Given the description of an element on the screen output the (x, y) to click on. 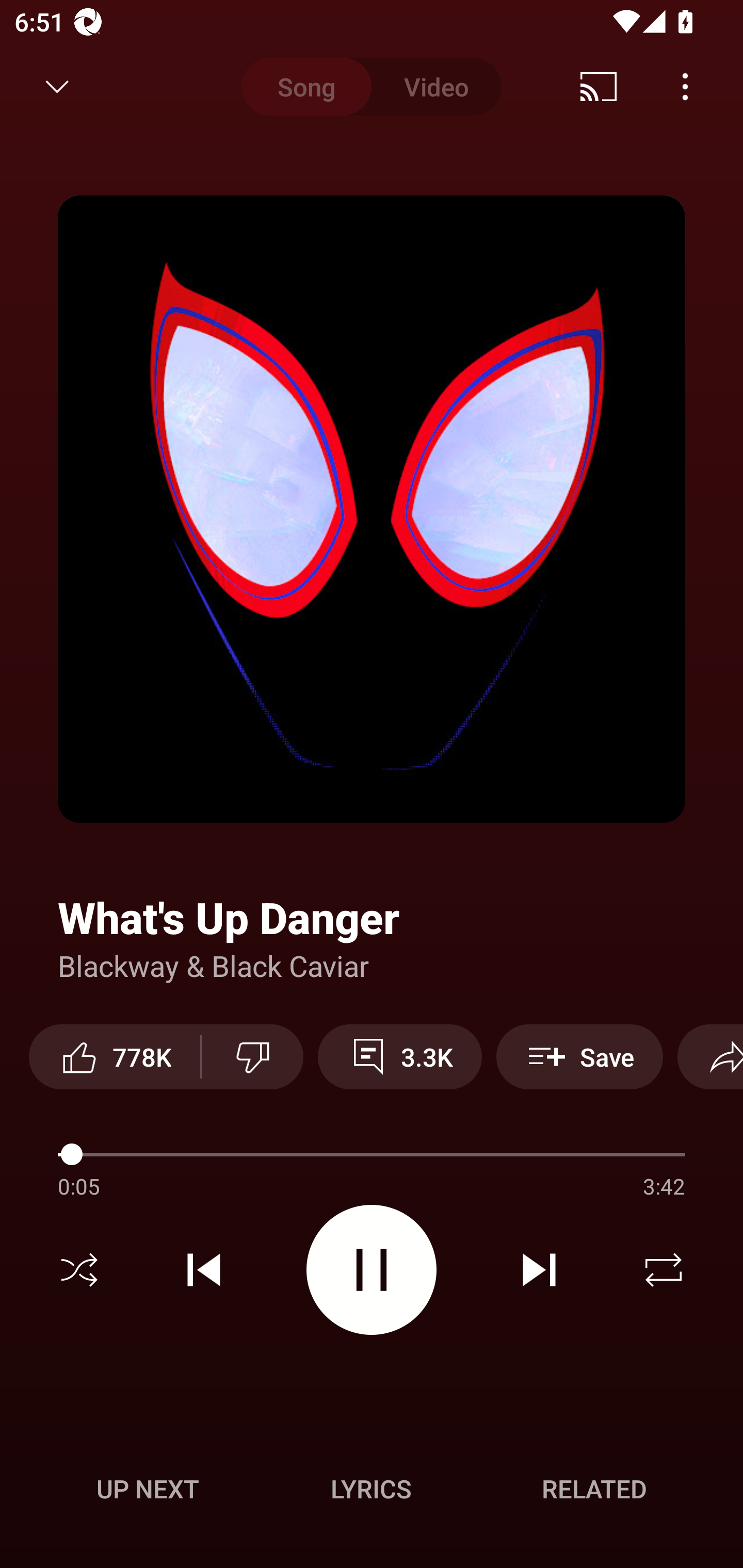
Minimize (57, 86)
Cast. Disconnected (598, 86)
Menu (684, 86)
Dislike (252, 1056)
3.3K View 3,333 comments (400, 1056)
Save Save to playlist (579, 1056)
Share (710, 1056)
Pause video (371, 1269)
Shuffle off (79, 1269)
Previous track (203, 1269)
Next track (538, 1269)
Repeat off (663, 1269)
Up next UP NEXT Lyrics LYRICS Related RELATED (371, 1491)
Lyrics LYRICS (370, 1488)
Related RELATED (594, 1488)
